Given the description of an element on the screen output the (x, y) to click on. 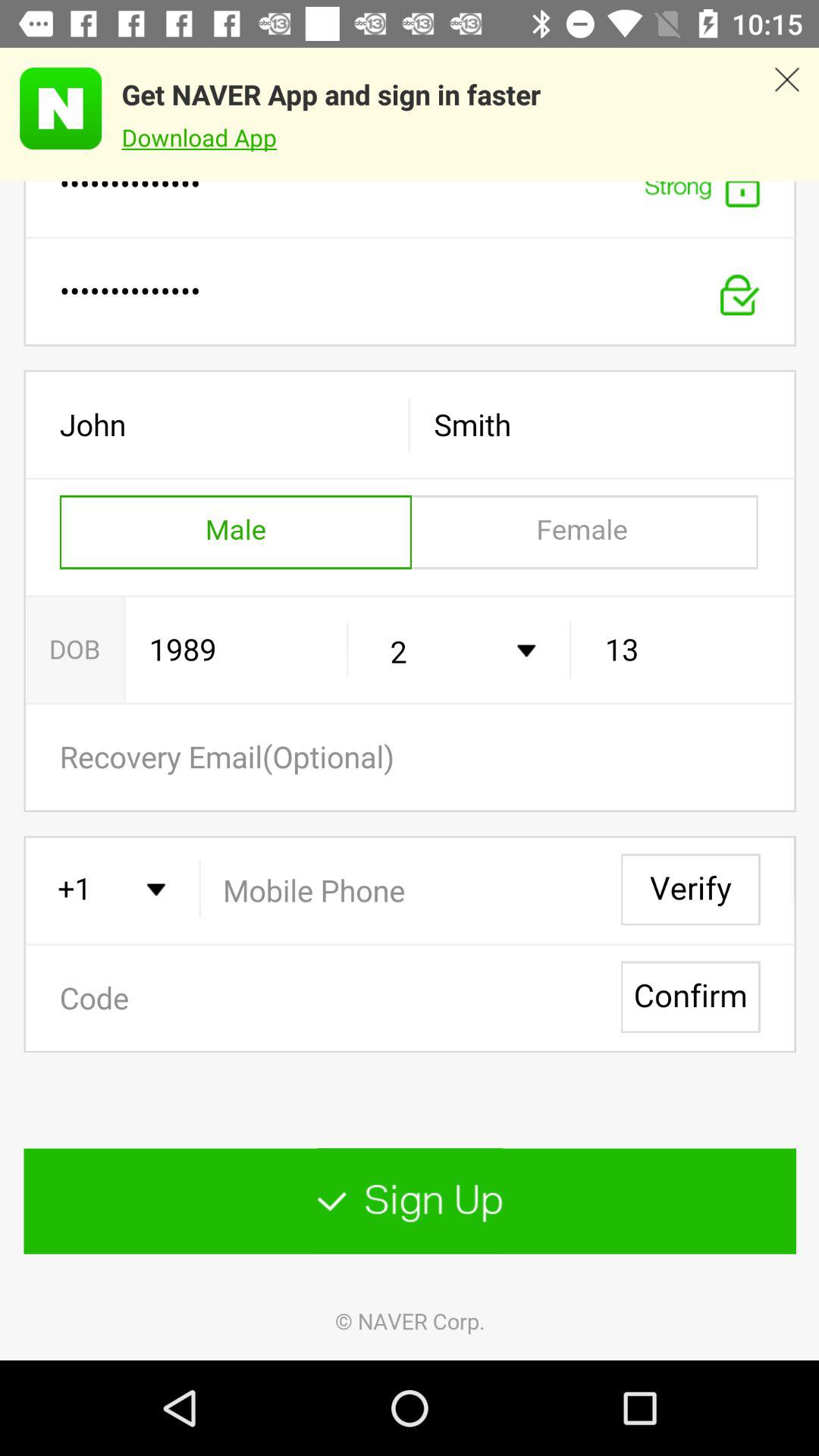
remve button (787, 114)
